Given the description of an element on the screen output the (x, y) to click on. 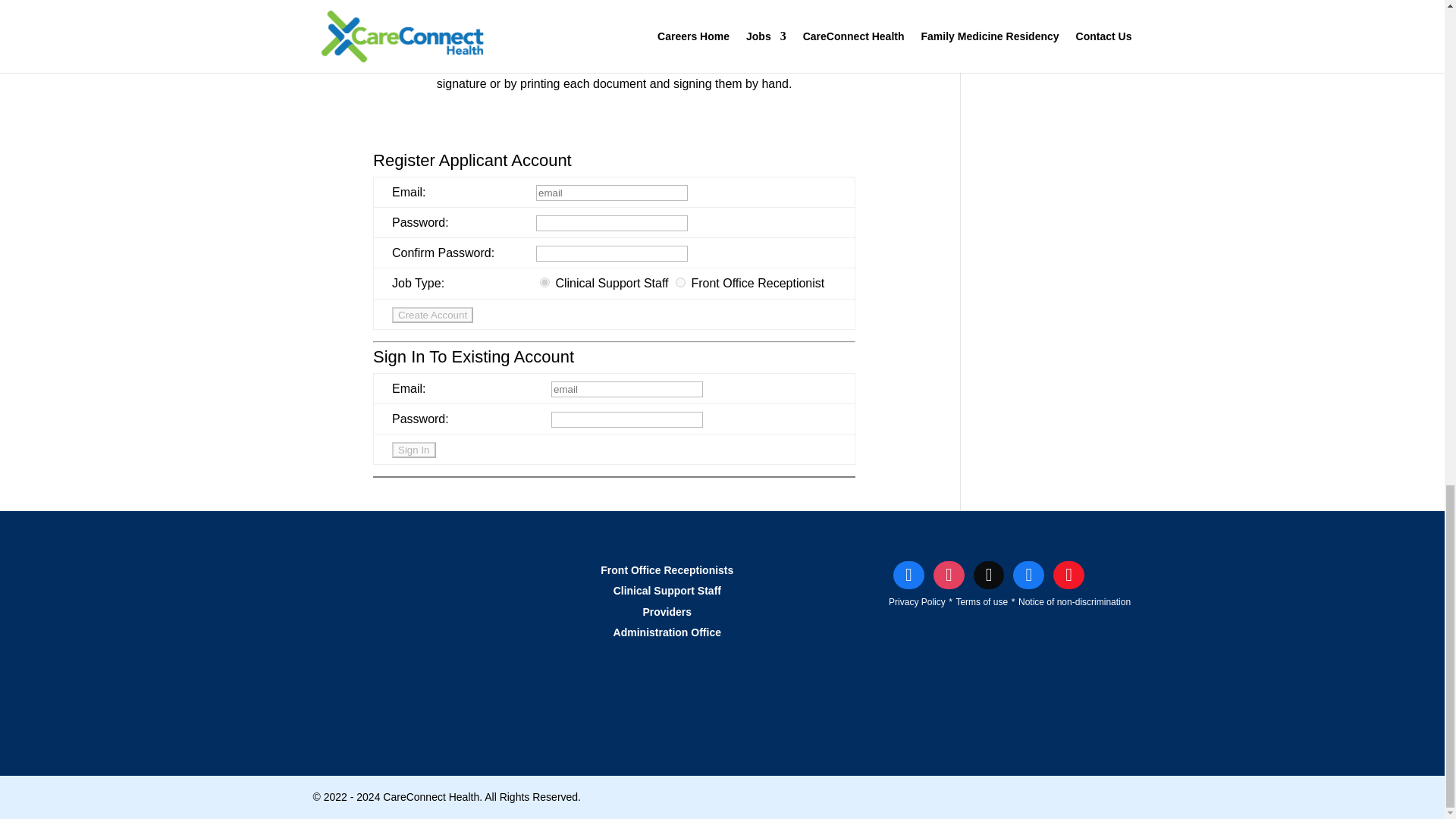
Facebook (908, 574)
Terms of use (981, 602)
Create Account (432, 314)
Administration Office (666, 632)
Front Office Receptionists (666, 570)
Notice of non-discrimination (1073, 602)
Privacy Policy (916, 602)
Clinical Support Staff (666, 590)
Sign In (413, 449)
Tiktok (989, 574)
Create Account (432, 314)
Providers (668, 612)
Sign In (413, 449)
Linkedin (1028, 574)
Youtube (1068, 574)
